Given the description of an element on the screen output the (x, y) to click on. 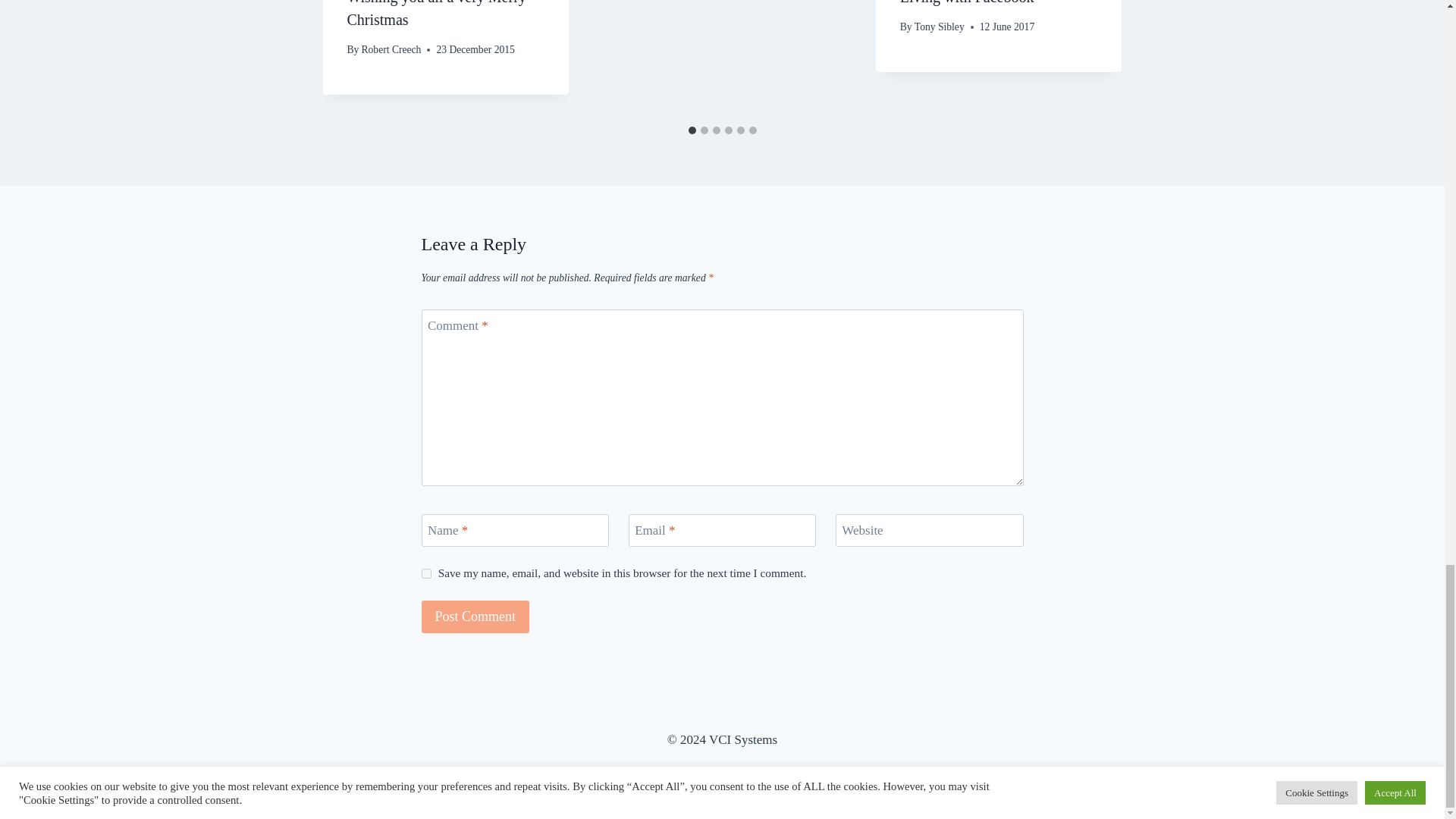
Post Comment (475, 616)
yes (426, 573)
